Given the description of an element on the screen output the (x, y) to click on. 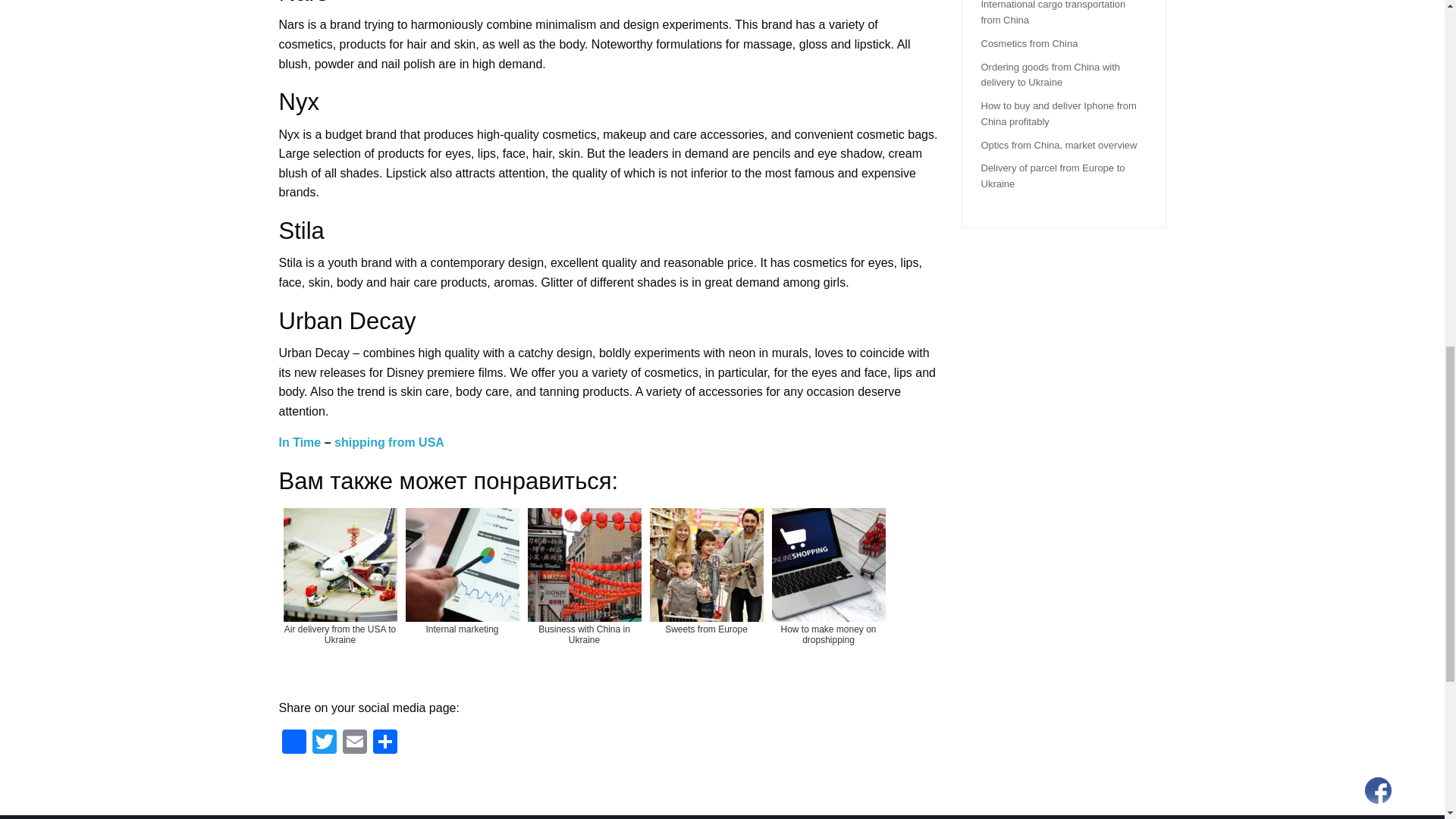
Email (354, 743)
Twitter (323, 743)
Facebook (293, 743)
